Given the description of an element on the screen output the (x, y) to click on. 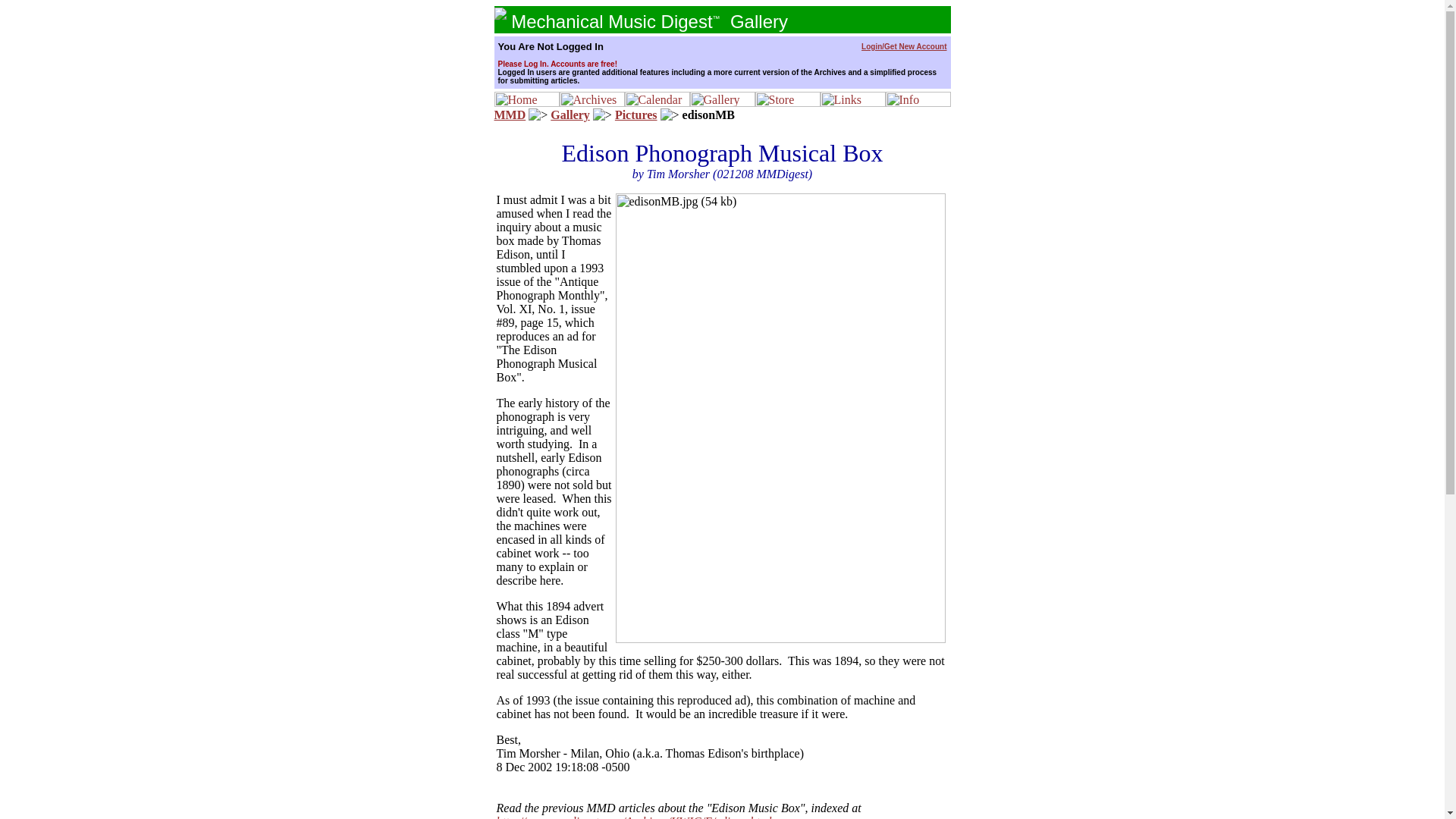
MMD (510, 114)
Pictures (636, 114)
Gallery (569, 114)
